Given the description of an element on the screen output the (x, y) to click on. 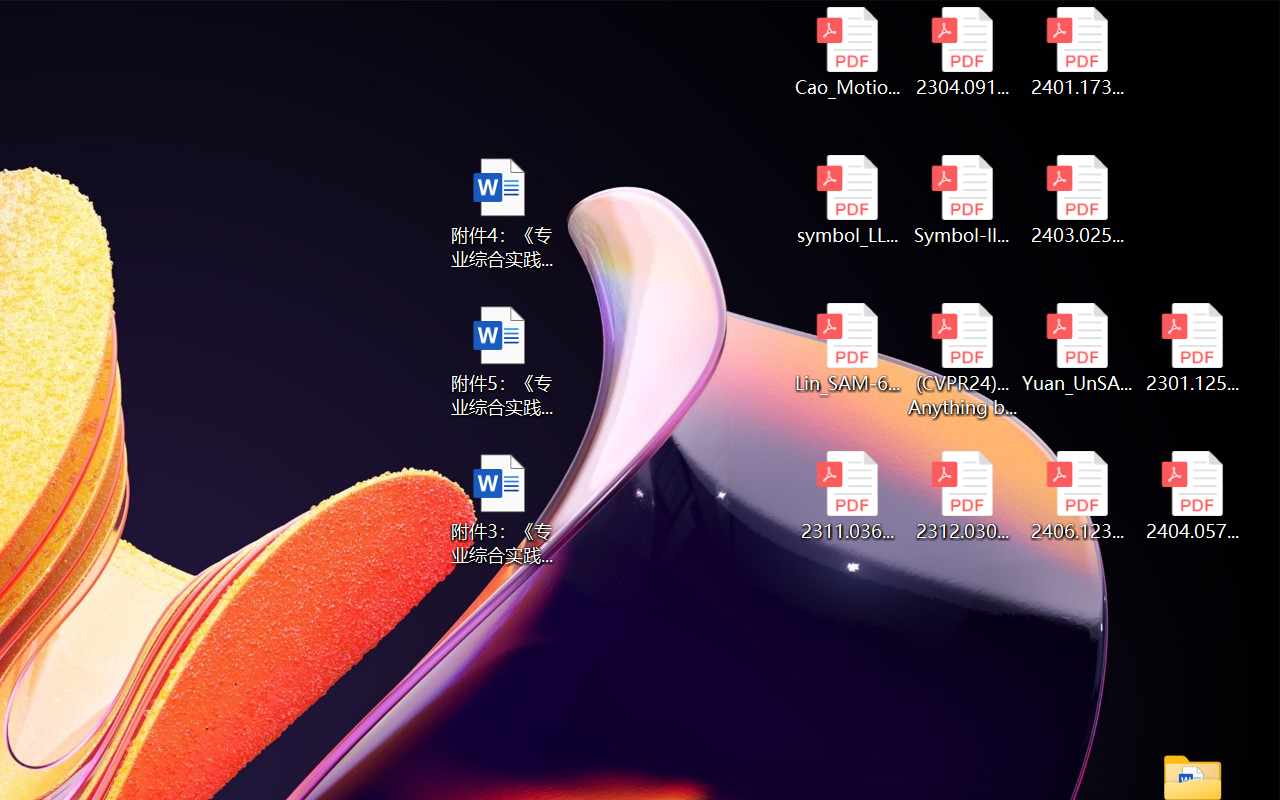
symbol_LLM.pdf (846, 200)
